Given the description of an element on the screen output the (x, y) to click on. 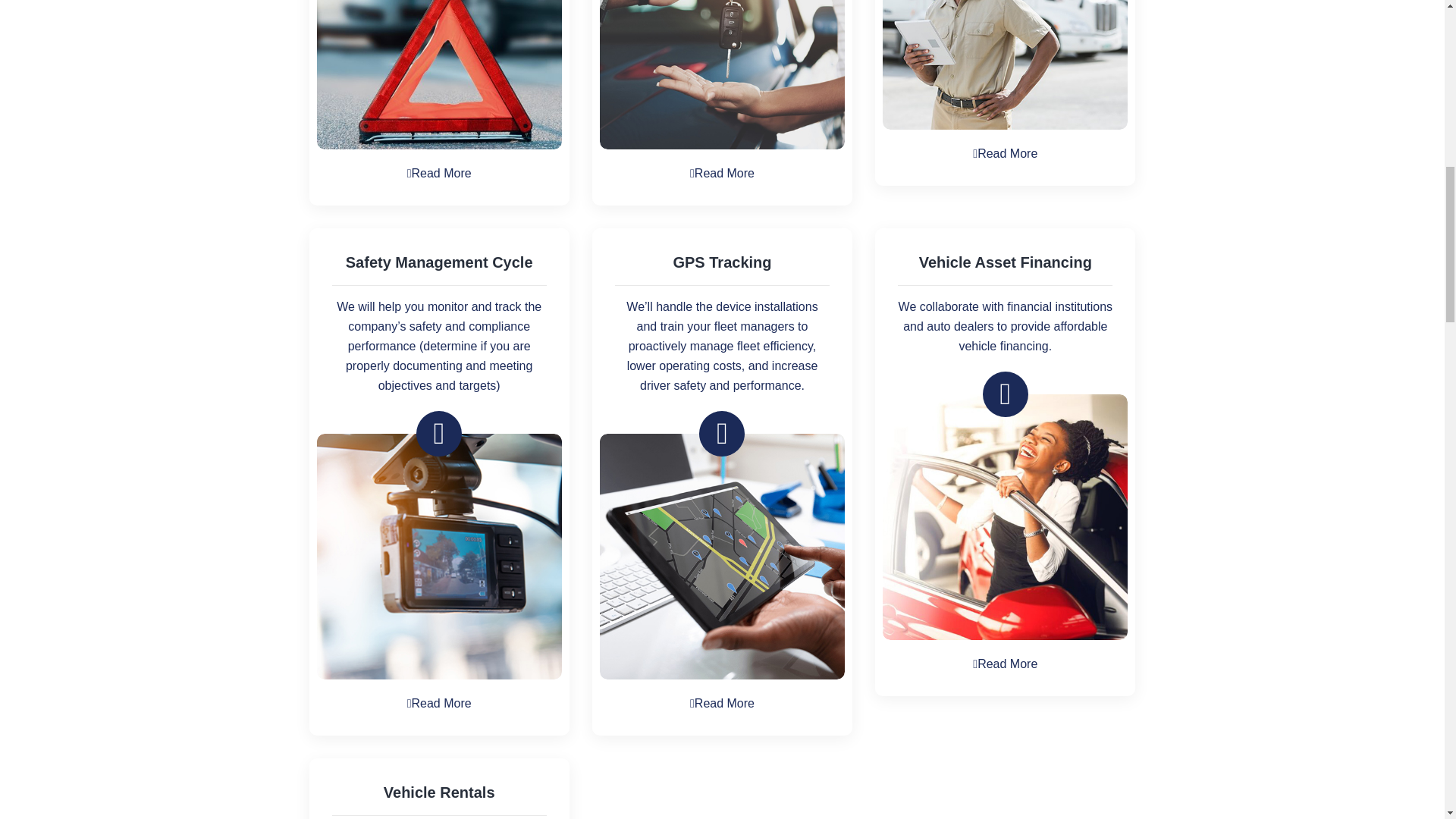
GPS Tracking (721, 261)
Read More (722, 703)
Safety Management Cycle (439, 261)
Read More (439, 173)
Read More (1004, 663)
Read More (1004, 153)
Vehicle Rentals (439, 792)
Vehicle Asset Financing (1005, 261)
Read More (722, 173)
Read More (439, 703)
